Given the description of an element on the screen output the (x, y) to click on. 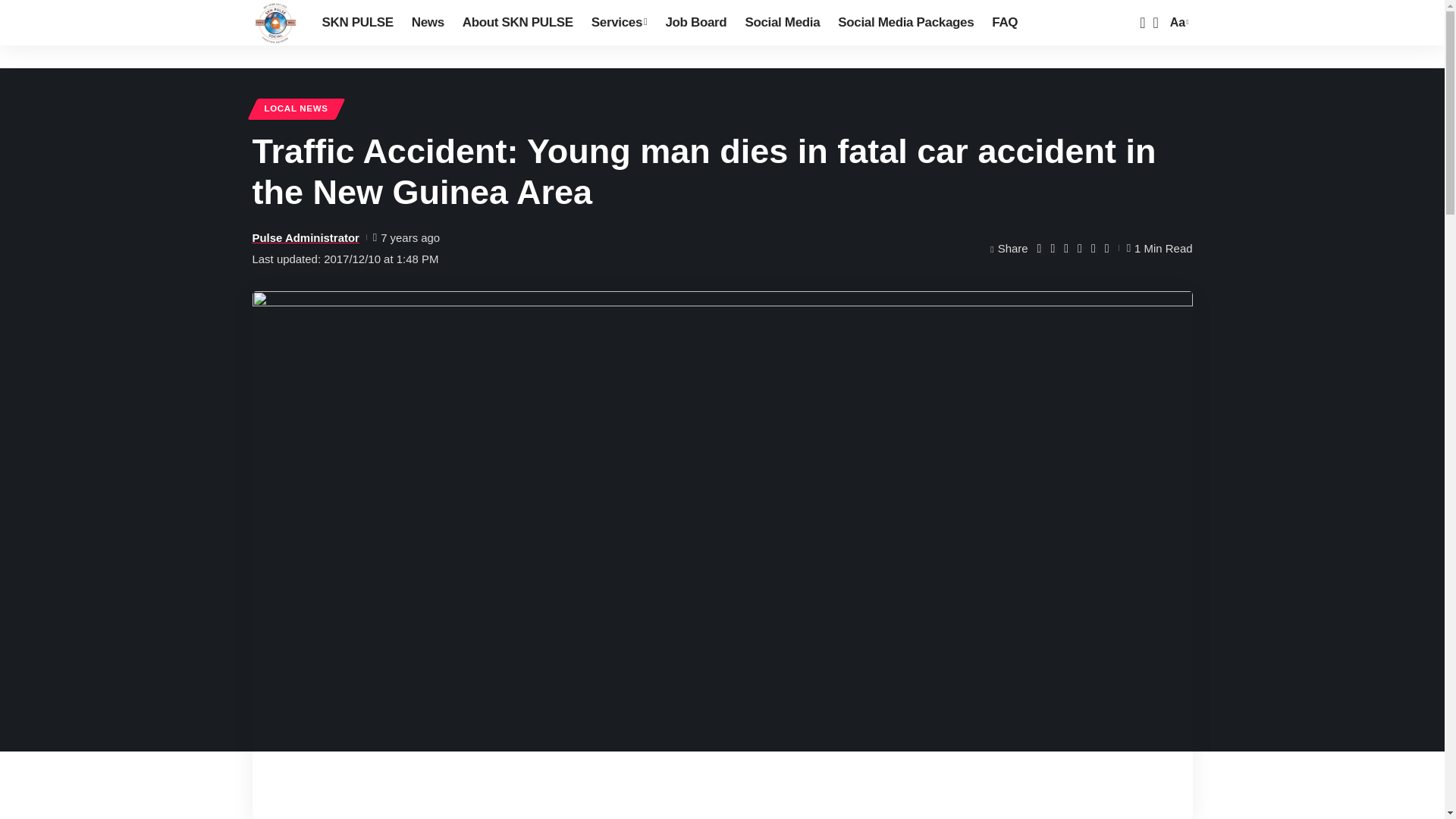
Social Media (781, 22)
About SKN PULSE (517, 22)
FAQ (1004, 22)
Aa (1177, 22)
Social Media Packages (905, 22)
Services (619, 22)
SKN PULSE (357, 22)
News (427, 22)
SKN PULSE (274, 22)
Job Board (695, 22)
